Given the description of an element on the screen output the (x, y) to click on. 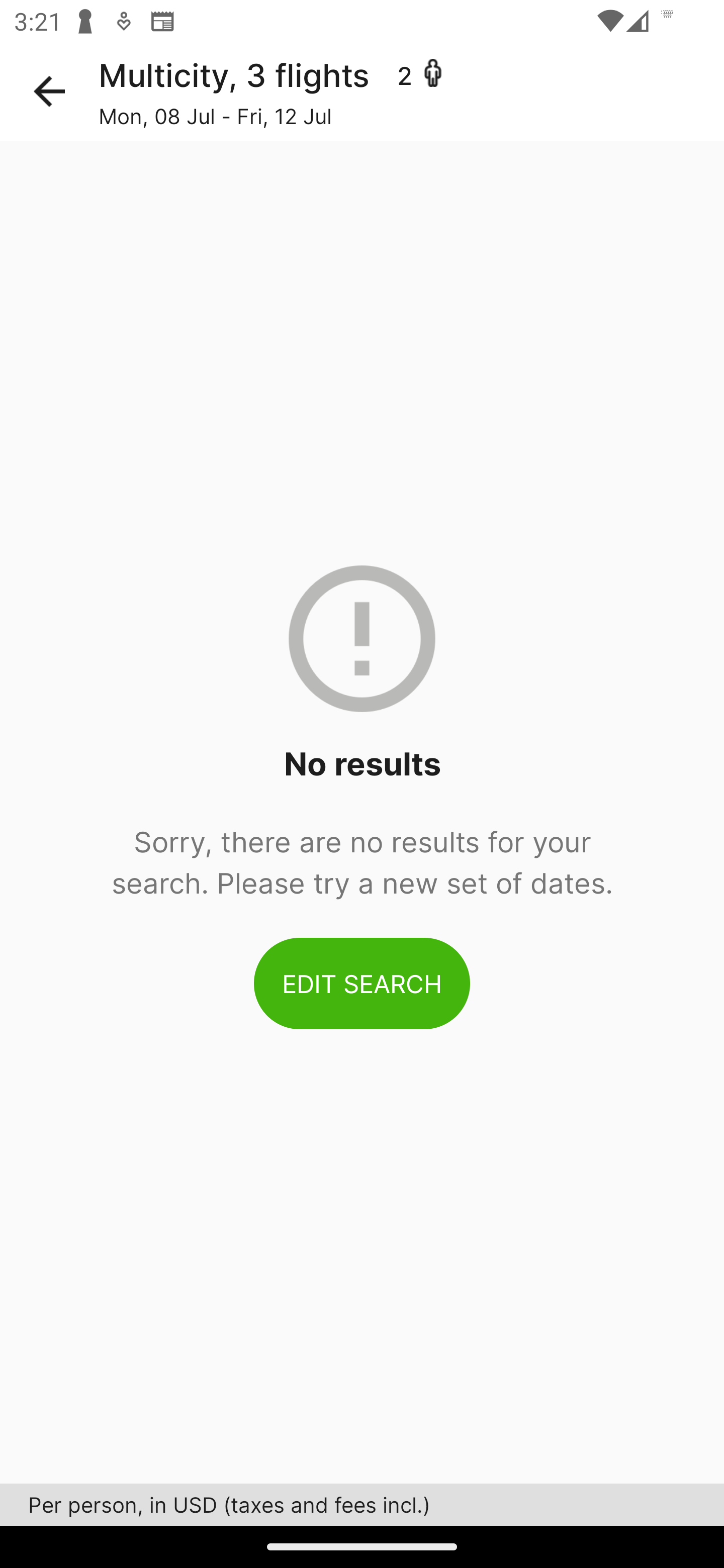
EDIT SEARCH (361, 982)
